Given the description of an element on the screen output the (x, y) to click on. 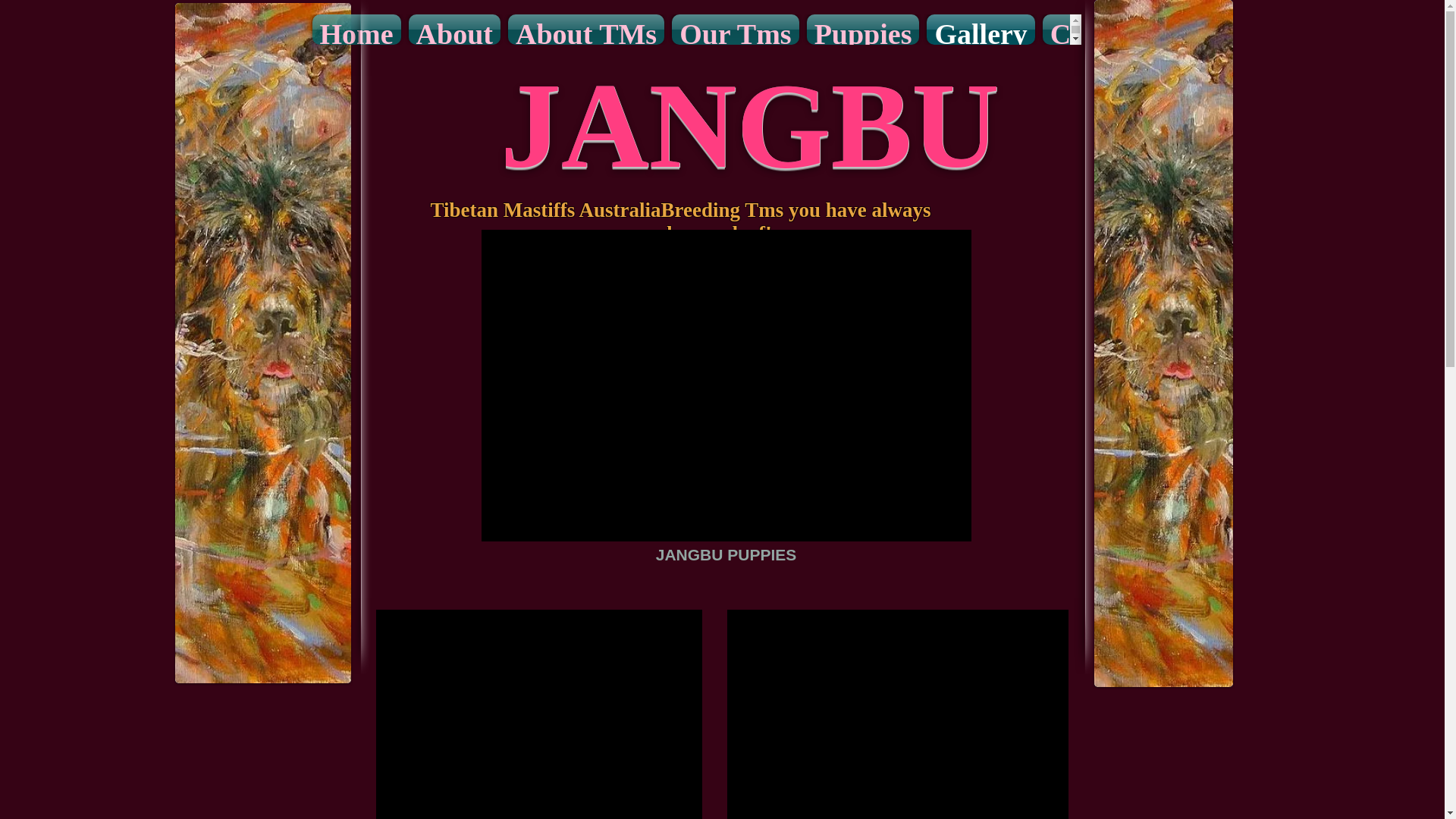
10480202_578687705583400_7727565011299738424_n.jpg Element type: hover (1162, 343)
About TMs Element type: text (586, 29)
Puppies Element type: text (863, 29)
Home Element type: text (355, 29)
About Element type: text (454, 29)
Our Tms Element type: text (735, 29)
Gallery Element type: text (980, 29)
Contact Element type: text (1096, 29)
